Given the description of an element on the screen output the (x, y) to click on. 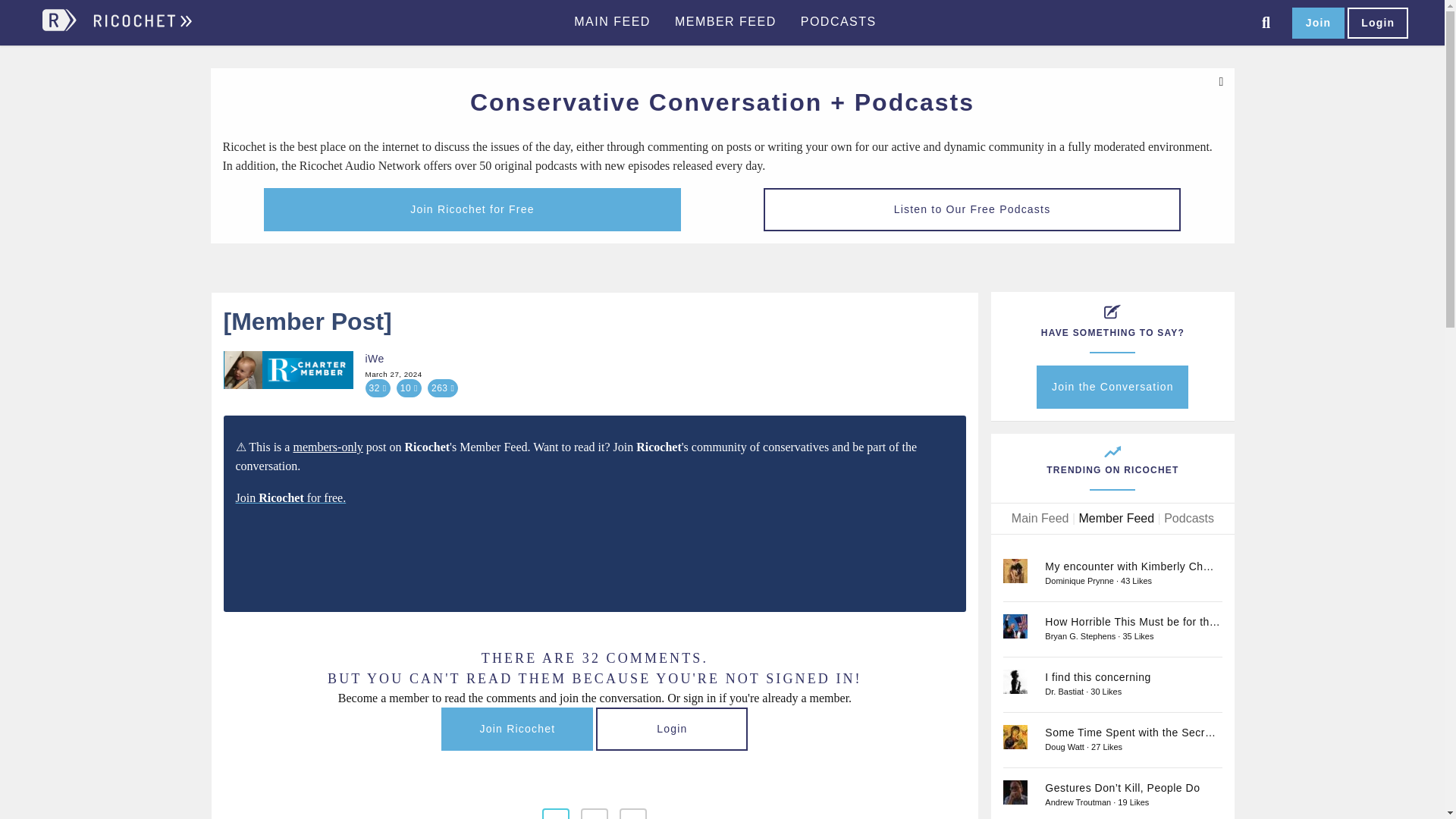
32 Comments (377, 388)
10 members are following this (409, 388)
PODCASTS (838, 22)
Post Views (443, 388)
MAIN FEED (611, 22)
iWe (243, 370)
Ricochet Home Page (141, 26)
MEMBER FEED (725, 22)
Search (1266, 22)
Joined in the first year of Ricochet (306, 369)
